Given the description of an element on the screen output the (x, y) to click on. 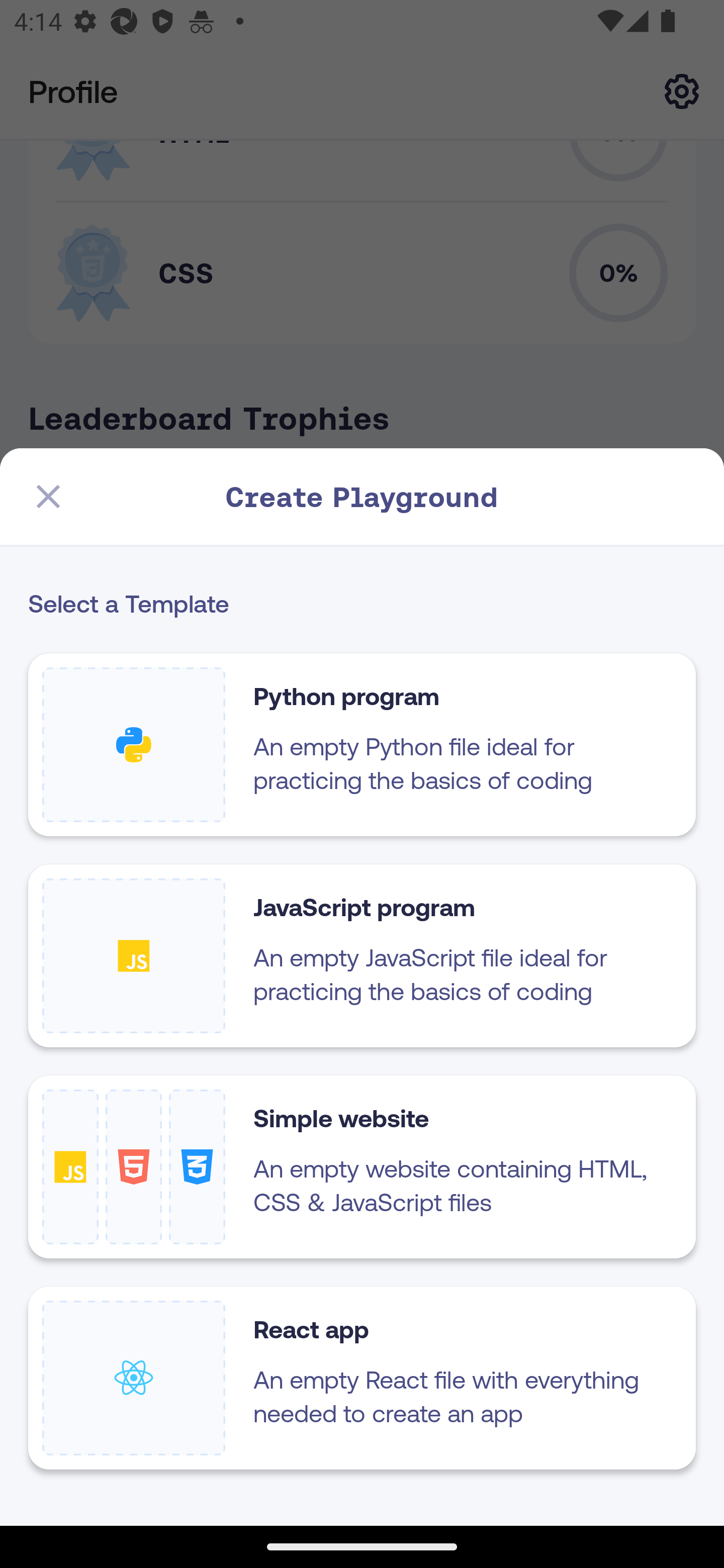
Close (47, 496)
